Given the description of an element on the screen output the (x, y) to click on. 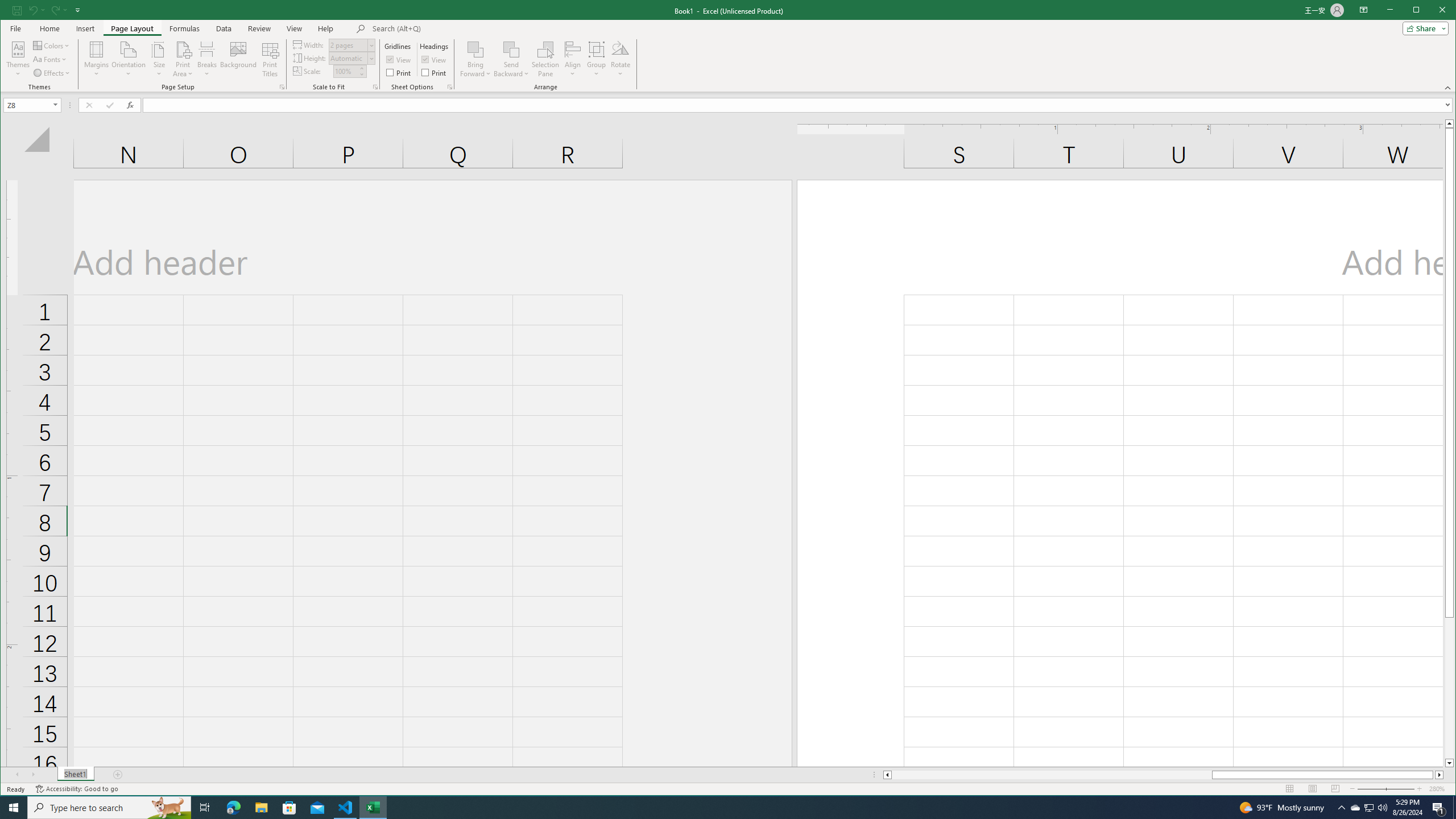
Themes (17, 59)
Print Titles (269, 59)
Action Center, 1 new notification (1439, 807)
Size (159, 59)
Bring Forward (475, 59)
Send Backward (510, 48)
